Given the description of an element on the screen output the (x, y) to click on. 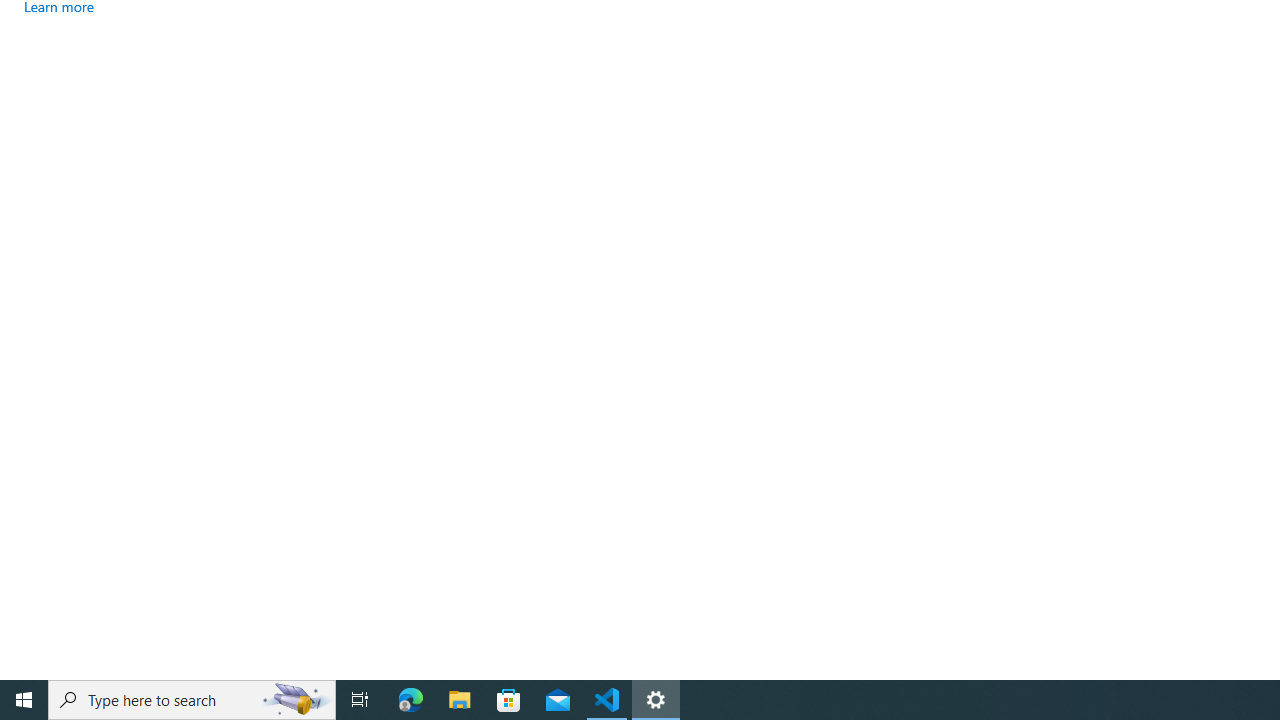
Settings - 1 running window (656, 699)
